Given the description of an element on the screen output the (x, y) to click on. 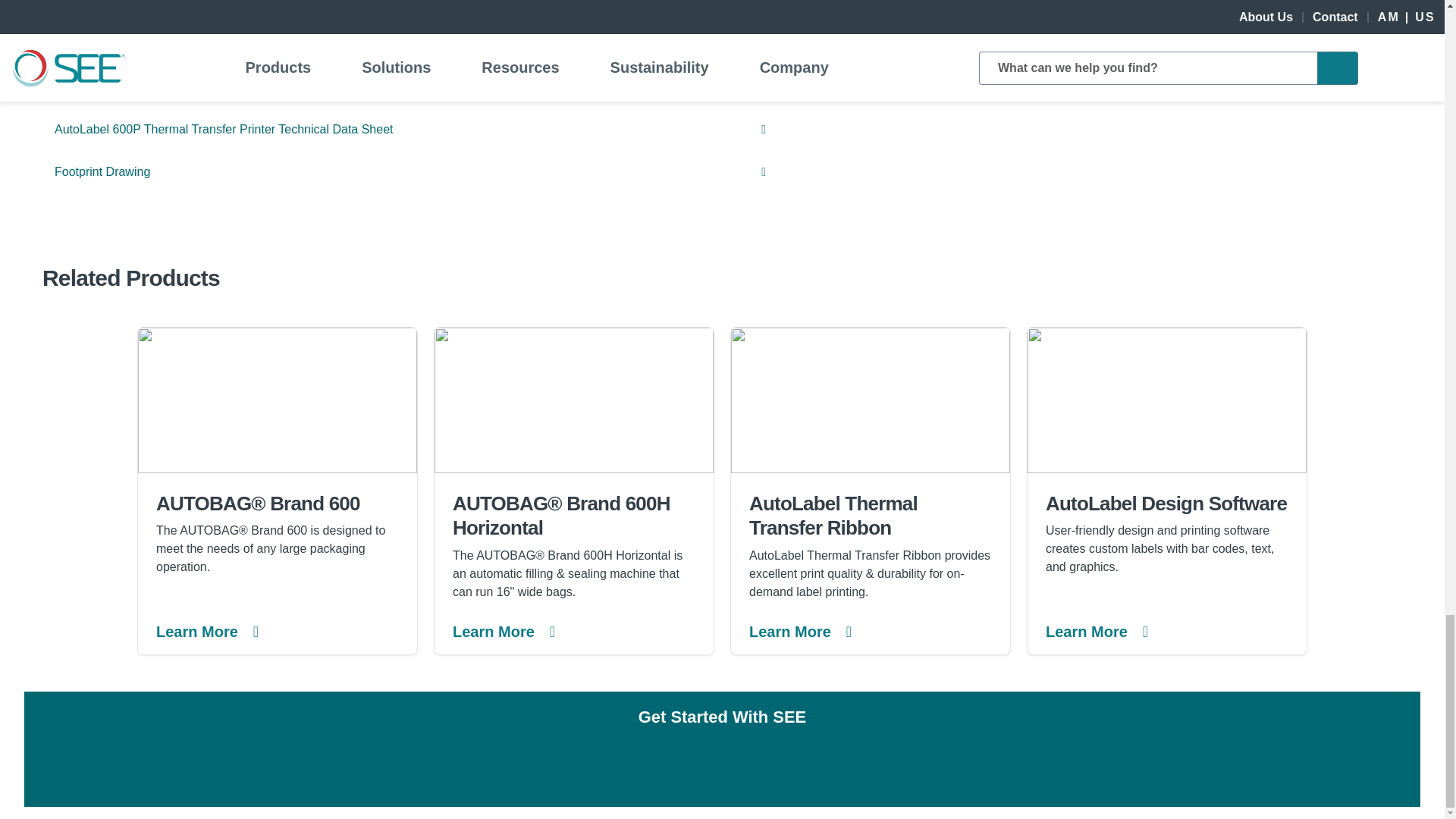
Industrial digital printing (1166, 400)
